Given the description of an element on the screen output the (x, y) to click on. 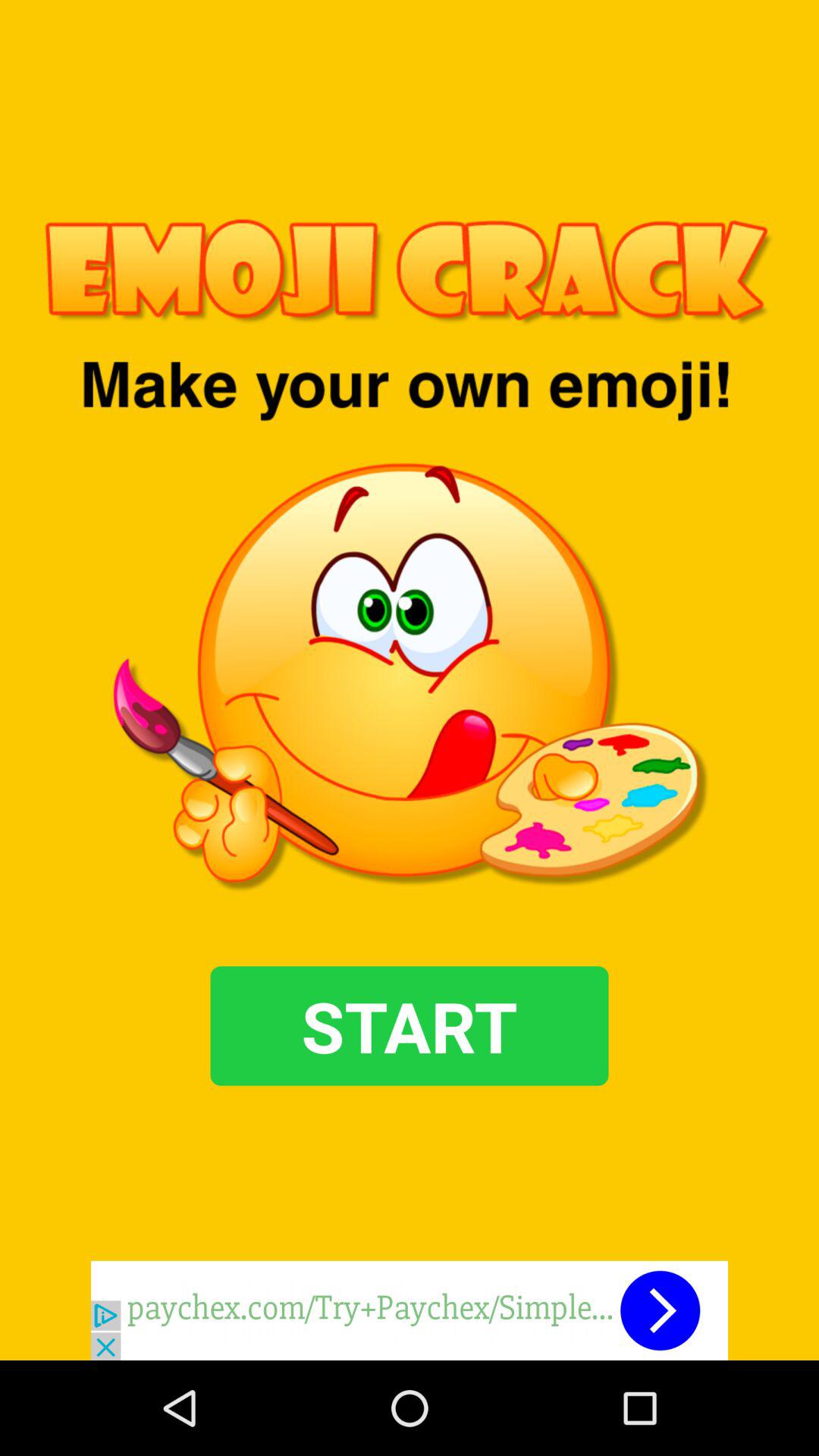
advertisement (409, 1310)
